Given the description of an element on the screen output the (x, y) to click on. 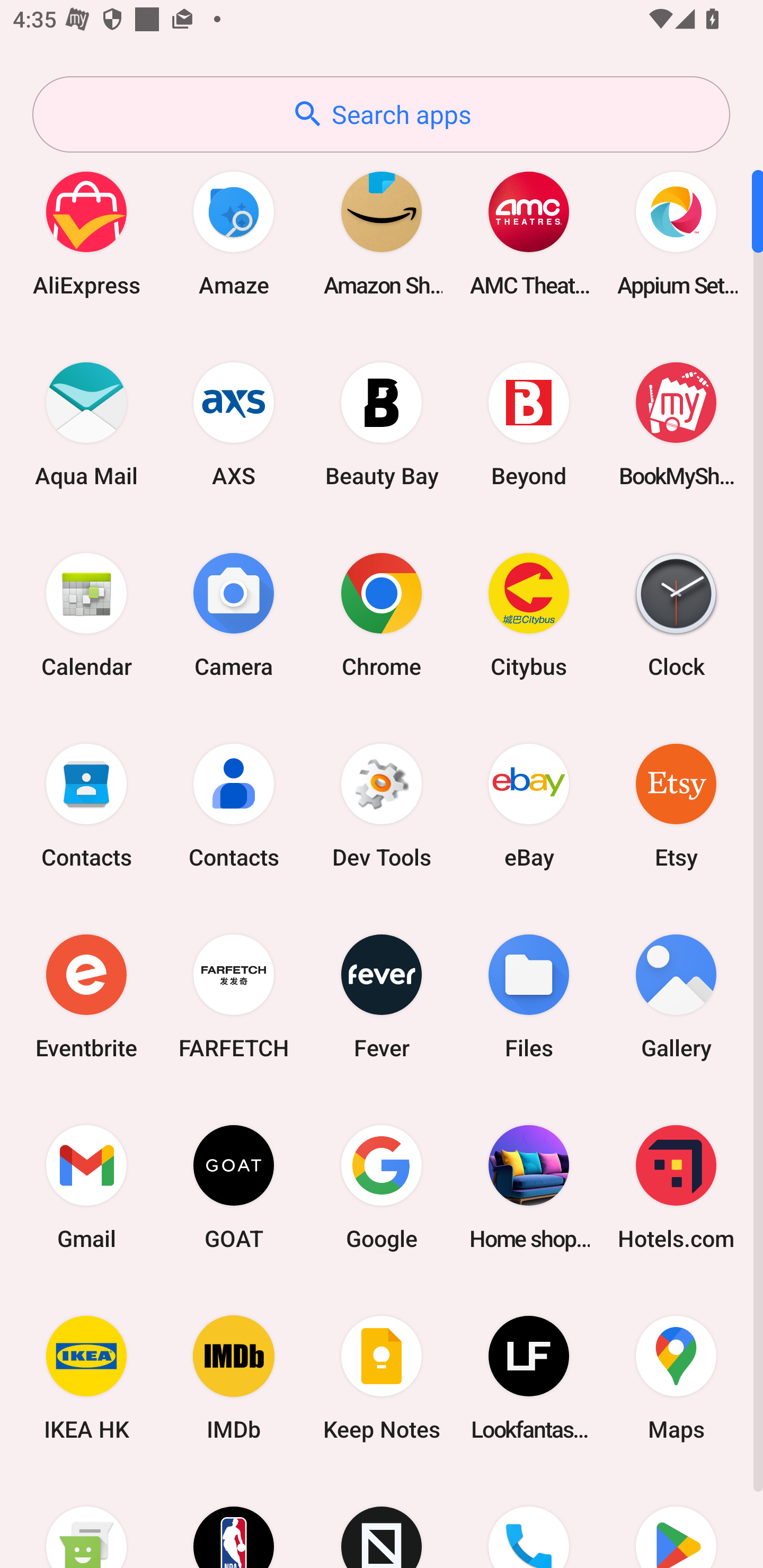
  Search apps (381, 114)
AliExpress (86, 233)
Amaze (233, 233)
Amazon Shopping (381, 233)
AMC Theatres (528, 233)
Appium Settings (676, 233)
Aqua Mail (86, 424)
AXS (233, 424)
Beauty Bay (381, 424)
Beyond (528, 424)
BookMyShow (676, 424)
Calendar (86, 614)
Camera (233, 614)
Chrome (381, 614)
Citybus (528, 614)
Clock (676, 614)
Contacts (86, 805)
Contacts (233, 805)
Dev Tools (381, 805)
eBay (528, 805)
Etsy (676, 805)
Eventbrite (86, 996)
FARFETCH (233, 996)
Fever (381, 996)
Files (528, 996)
Gallery (676, 996)
Gmail (86, 1186)
GOAT (233, 1186)
Google (381, 1186)
Home shopping (528, 1186)
Hotels.com (676, 1186)
IKEA HK (86, 1377)
IMDb (233, 1377)
Keep Notes (381, 1377)
Lookfantastic (528, 1377)
Maps (676, 1377)
